Given the description of an element on the screen output the (x, y) to click on. 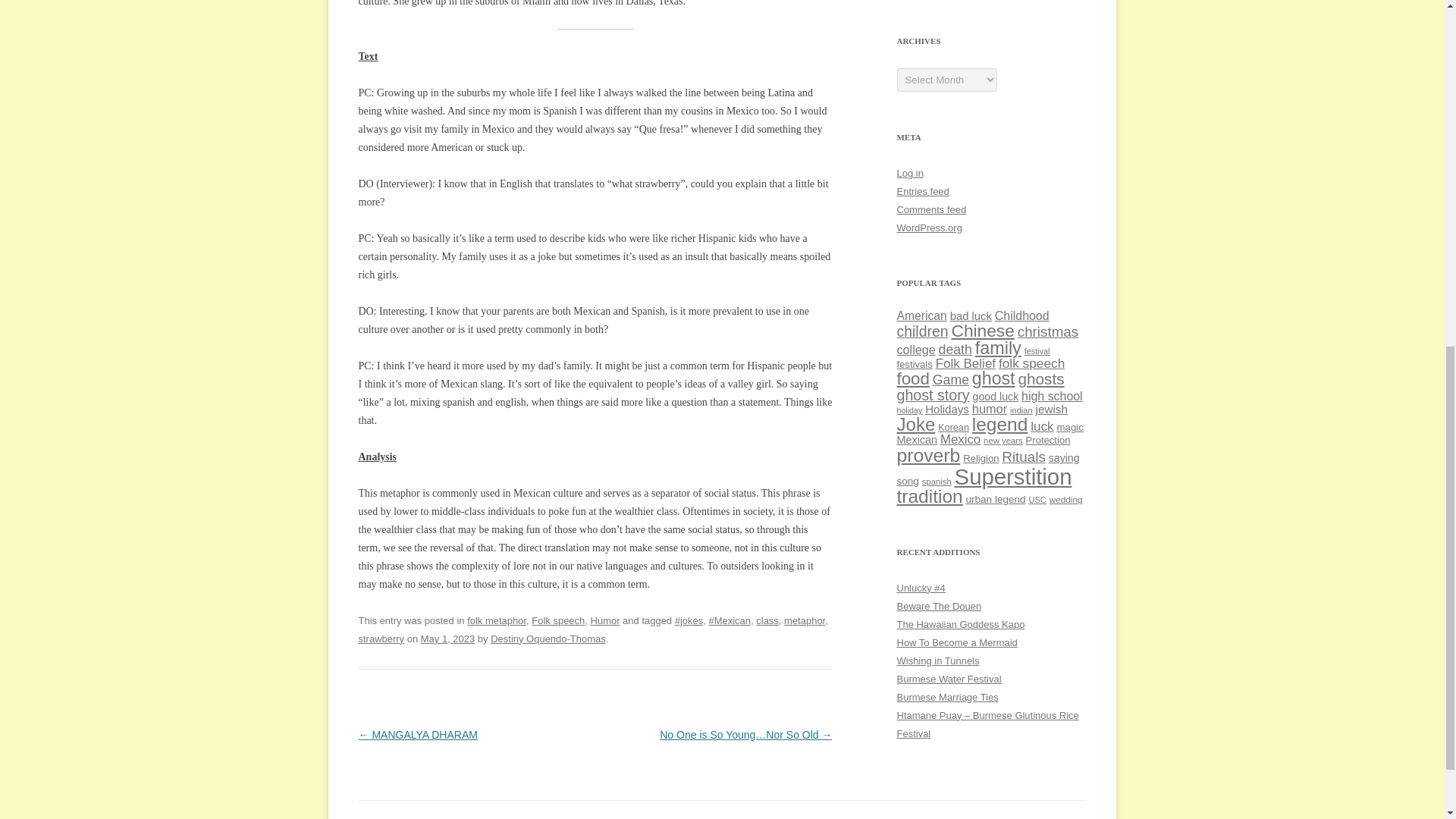
Folk Belief (965, 363)
christmas (1047, 331)
metaphor (804, 620)
WordPress.org (928, 227)
2:21 pm (447, 638)
View all posts by Destiny Oquendo-Thomas (547, 638)
Destiny Oquendo-Thomas (547, 638)
Comments feed (931, 209)
bad luck (970, 316)
Folk speech (558, 620)
